Given the description of an element on the screen output the (x, y) to click on. 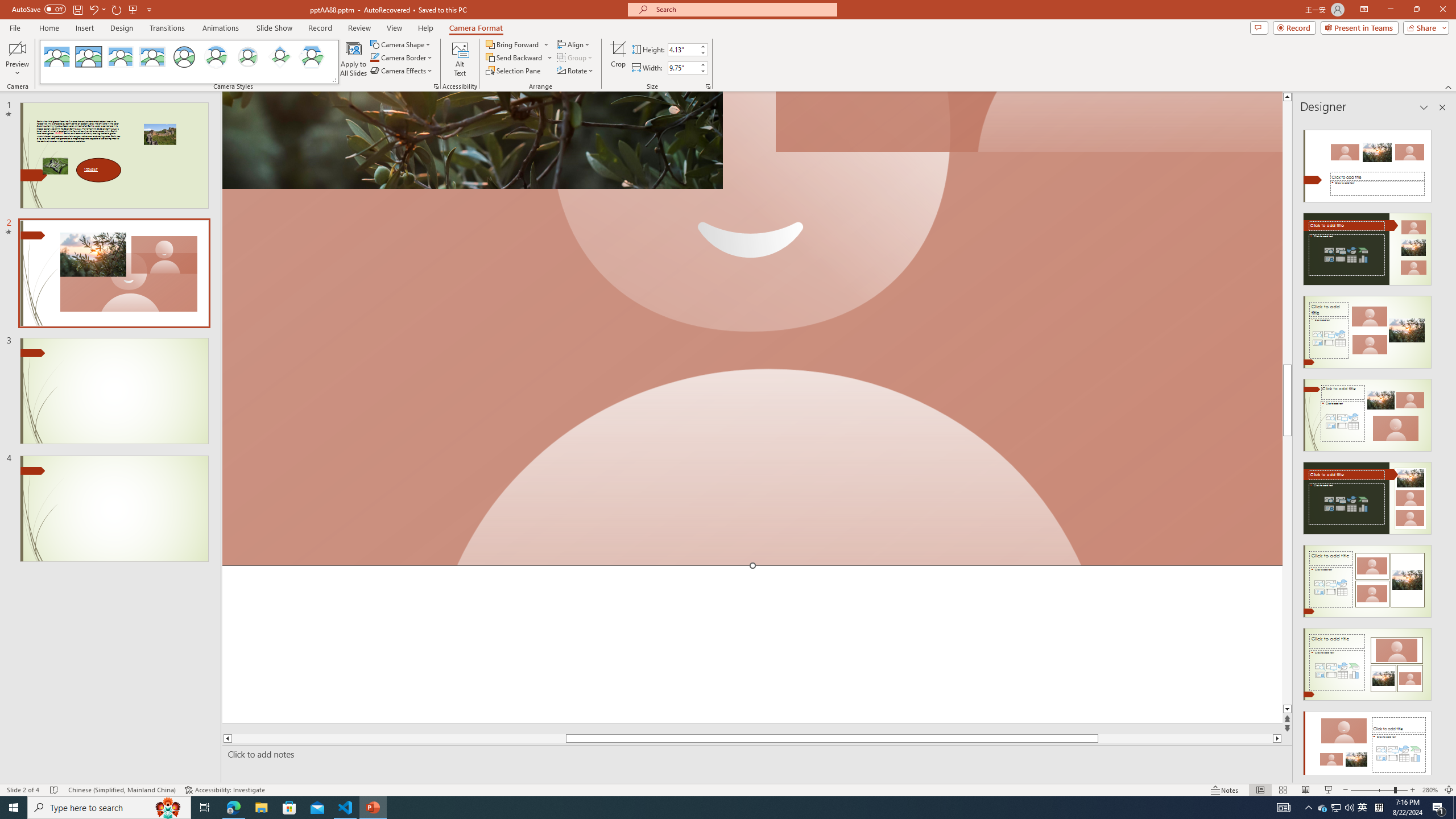
Cameo Height (682, 49)
Camera 7, No camera detected. (1028, 122)
Enable Camera Preview (17, 48)
